Given the description of an element on the screen output the (x, y) to click on. 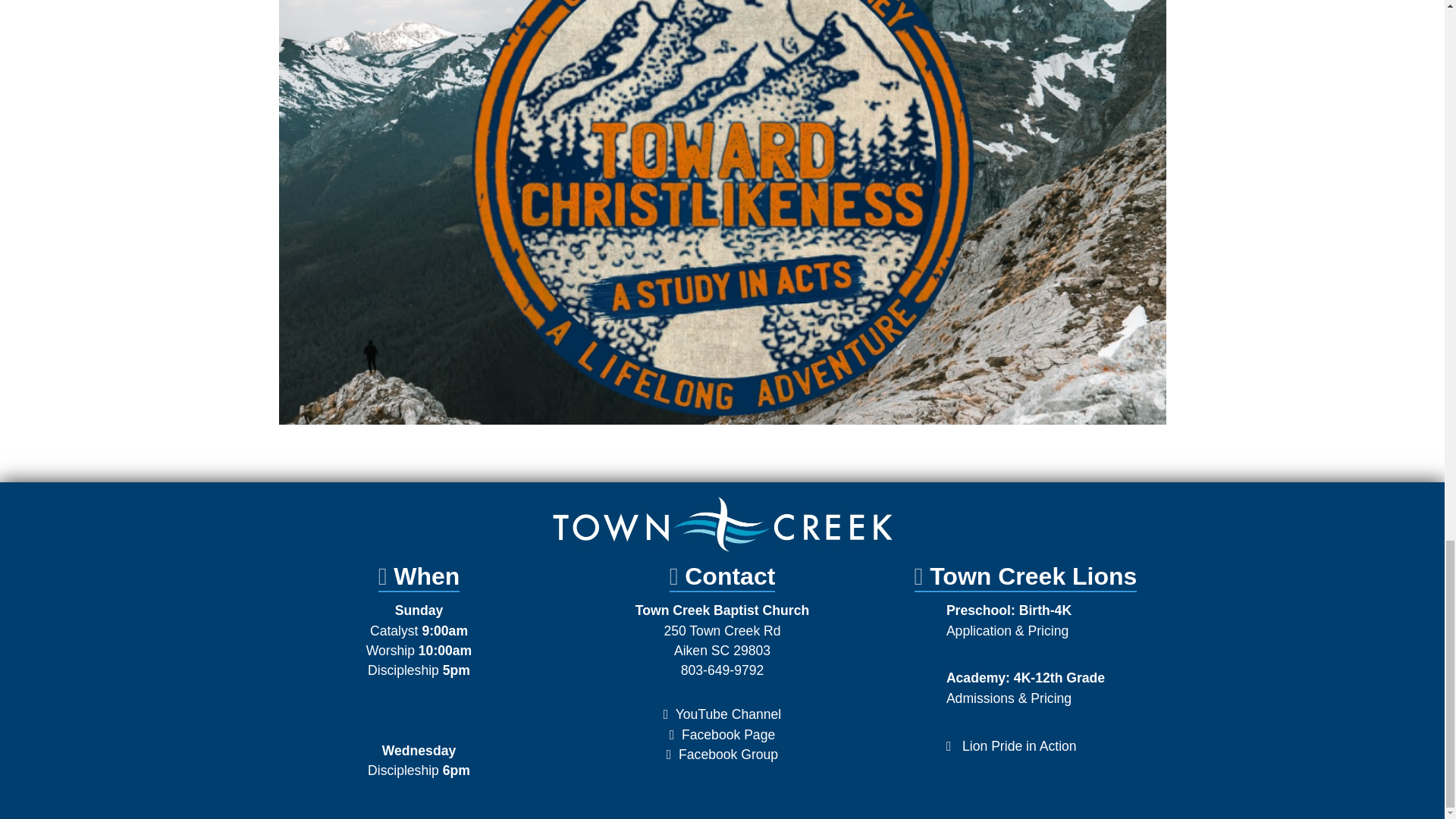
YouTube Channel (728, 713)
Facebook Page (727, 734)
Lion Pride in Action (1019, 745)
Facebook Group (721, 640)
Town Creek Lions (727, 754)
